Given the description of an element on the screen output the (x, y) to click on. 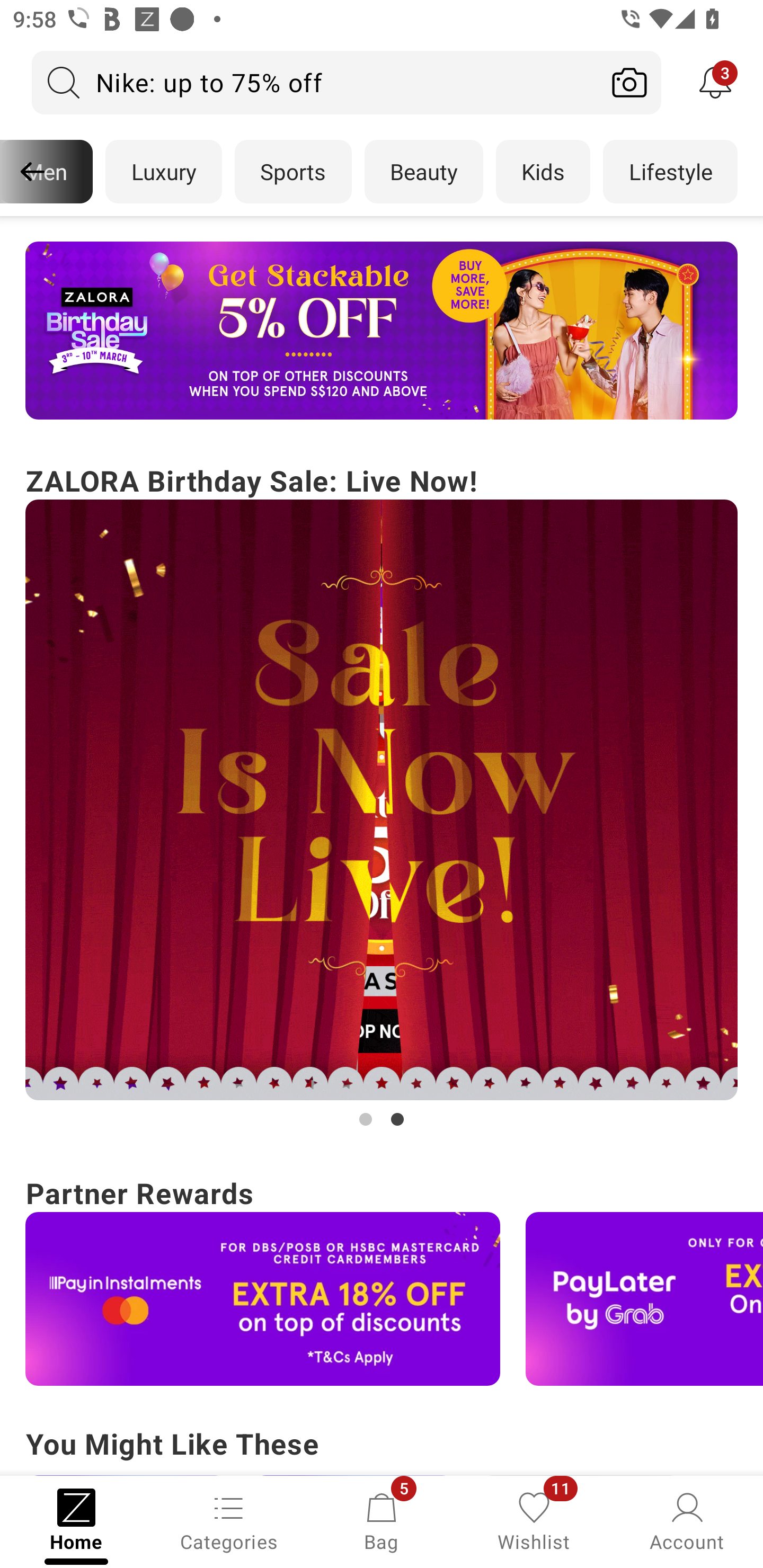
Nike: up to 75% off (314, 82)
Luxury (163, 171)
Sports (293, 171)
Beauty (423, 171)
Kids (542, 171)
Lifestyle (669, 171)
Campaign banner (381, 330)
ZALORA Birthday Sale: Live Now! Campaign banner (381, 794)
Campaign banner (381, 800)
Partner Rewards Campaign banner Campaign banner (381, 1277)
Campaign banner (262, 1299)
Campaign banner (644, 1299)
Categories (228, 1519)
Bag, 5 new notifications Bag (381, 1519)
Wishlist, 11 new notifications Wishlist (533, 1519)
Account (686, 1519)
